Given the description of an element on the screen output the (x, y) to click on. 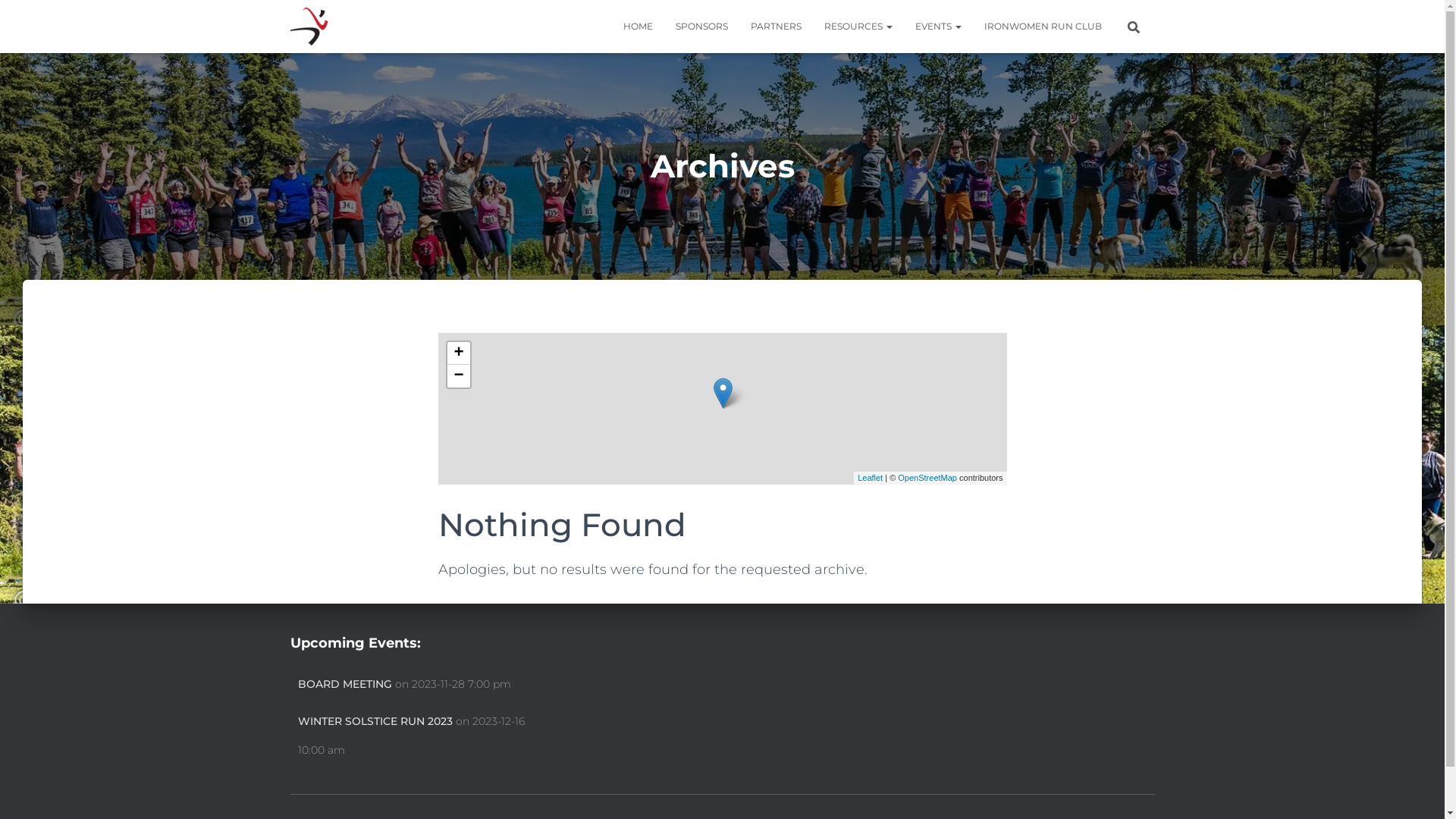
BOARD MEETING Element type: text (344, 684)
+ Element type: text (458, 353)
Athletics Yukon Element type: hover (309, 26)
OpenStreetMap Element type: text (927, 477)
WINTER SOLSTICE RUN 2023 Element type: text (374, 721)
PARTNERS Element type: text (775, 26)
Leaflet Element type: text (869, 477)
IRONWOMEN RUN CLUB Element type: text (1042, 26)
EVENTS Element type: text (937, 26)
SPONSORS Element type: text (701, 26)
HOME Element type: text (637, 26)
Search Element type: text (3, 16)
RESOURCES Element type: text (857, 26)
